Given the description of an element on the screen output the (x, y) to click on. 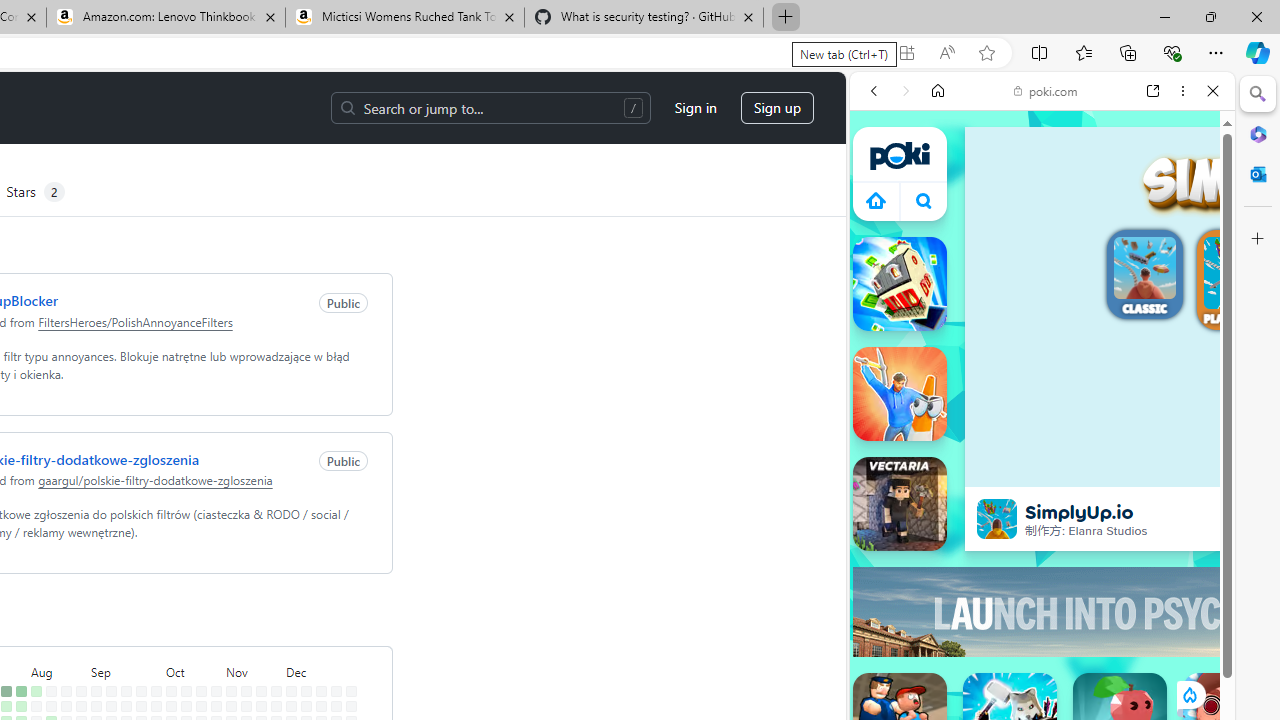
Sign in (695, 107)
No contributions on December 15th. (321, 691)
No contributions on December 1st. (290, 691)
3 contributions on August 4th. (36, 691)
Stack City (899, 283)
2 contributions on July 22nd. (6, 706)
1 contribution on July 29th. (20, 706)
VIDEOS (1006, 228)
No contributions on December 16th. (321, 706)
No contributions on August 25th. (81, 691)
Vectaria.io Vectaria.io (899, 503)
